Given the description of an element on the screen output the (x, y) to click on. 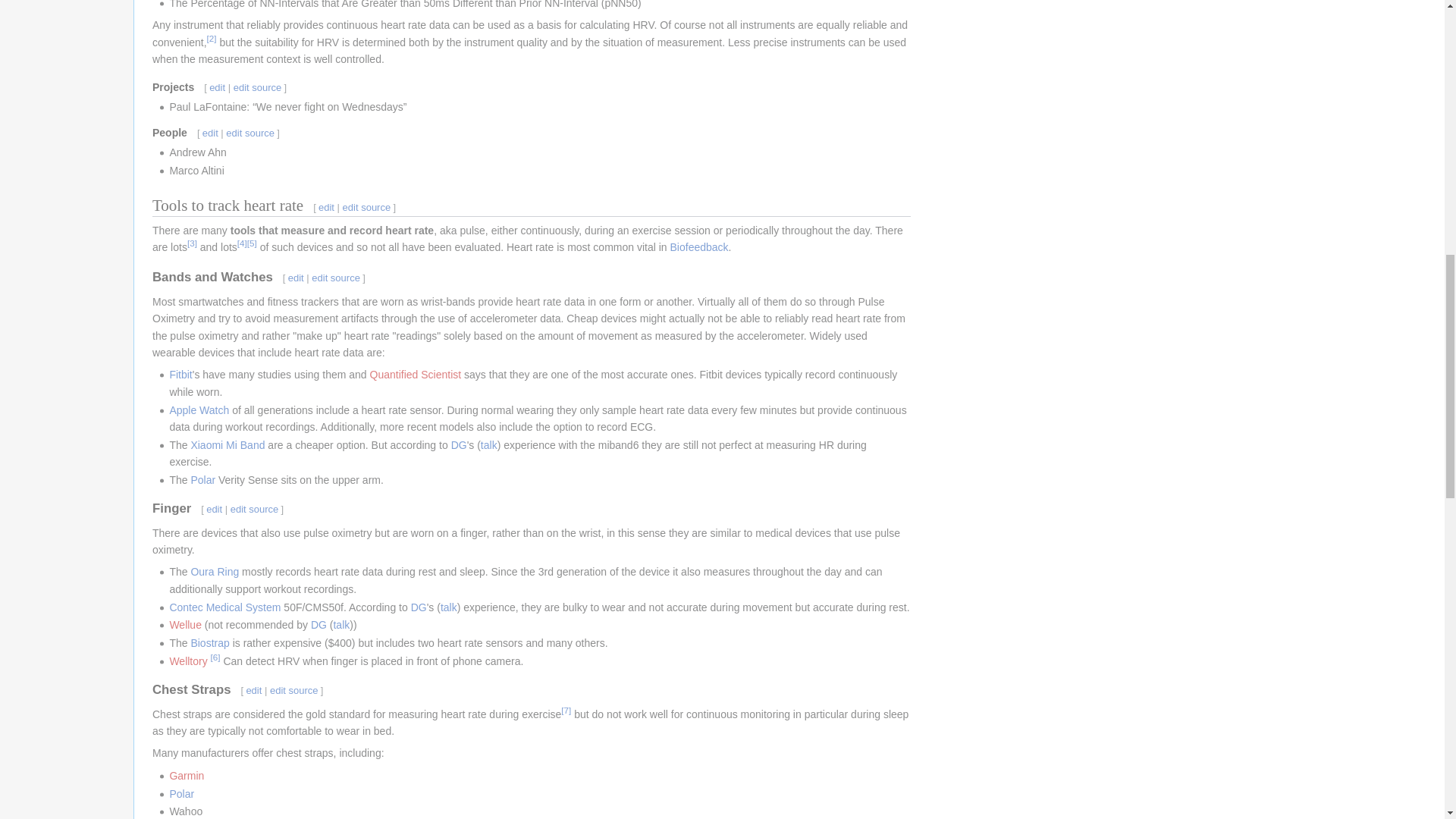
Edit section: Tools to track heart rate (326, 206)
Biofeedback (699, 246)
Edit section: Projects (217, 87)
edit (217, 87)
Edit section: People (250, 132)
edit source (366, 206)
Edit section: Projects (257, 87)
edit (326, 206)
edit source (250, 132)
Edit section: Tools to track heart rate (366, 206)
